Given the description of an element on the screen output the (x, y) to click on. 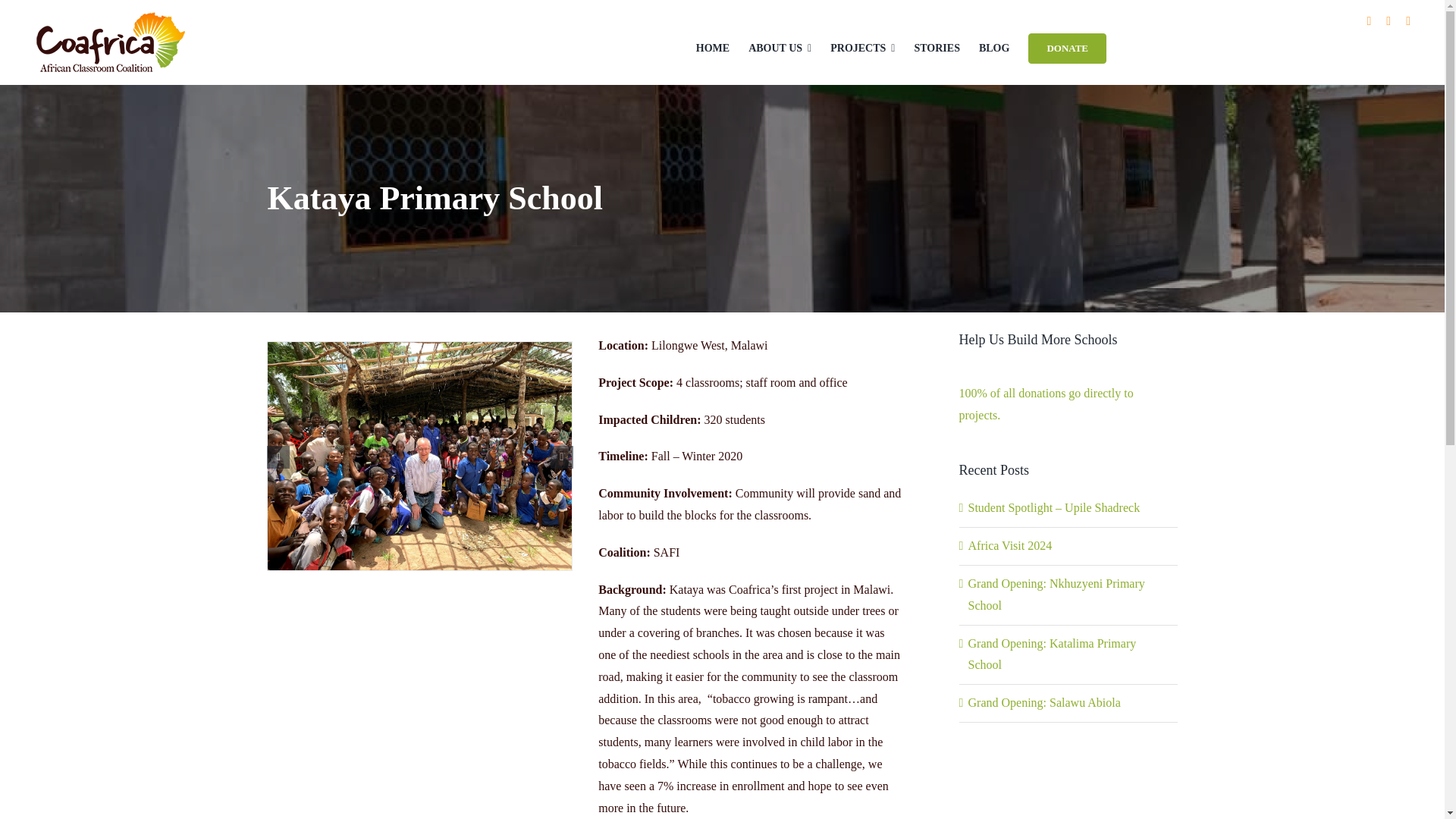
DONATE (1066, 48)
ABOUT US (779, 47)
HOME (712, 47)
PROJECTS (862, 47)
STORIES (936, 47)
BLOG (993, 47)
